Given the description of an element on the screen output the (x, y) to click on. 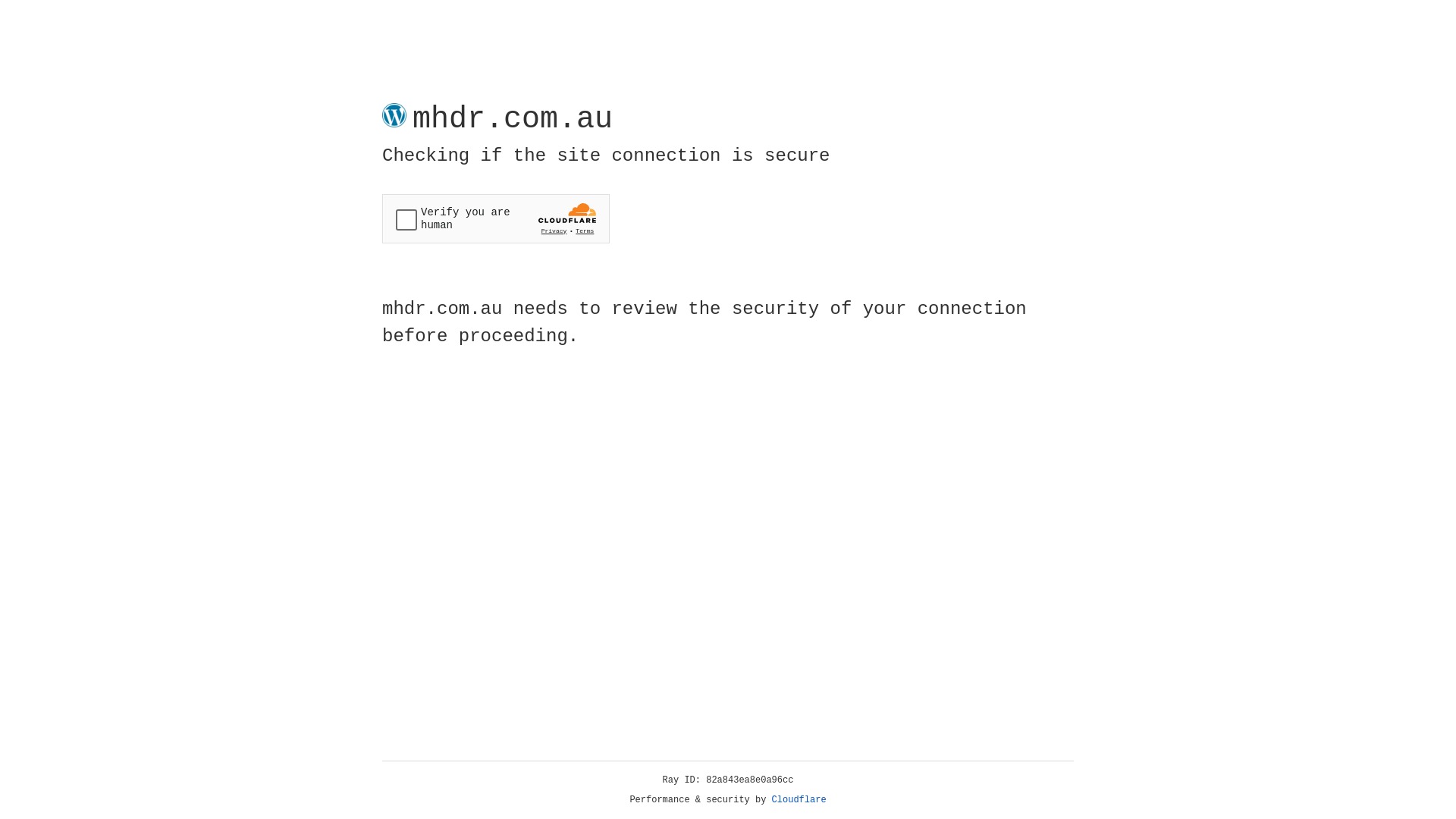
Cloudflare Element type: text (798, 799)
Widget containing a Cloudflare security challenge Element type: hover (495, 218)
